Given the description of an element on the screen output the (x, y) to click on. 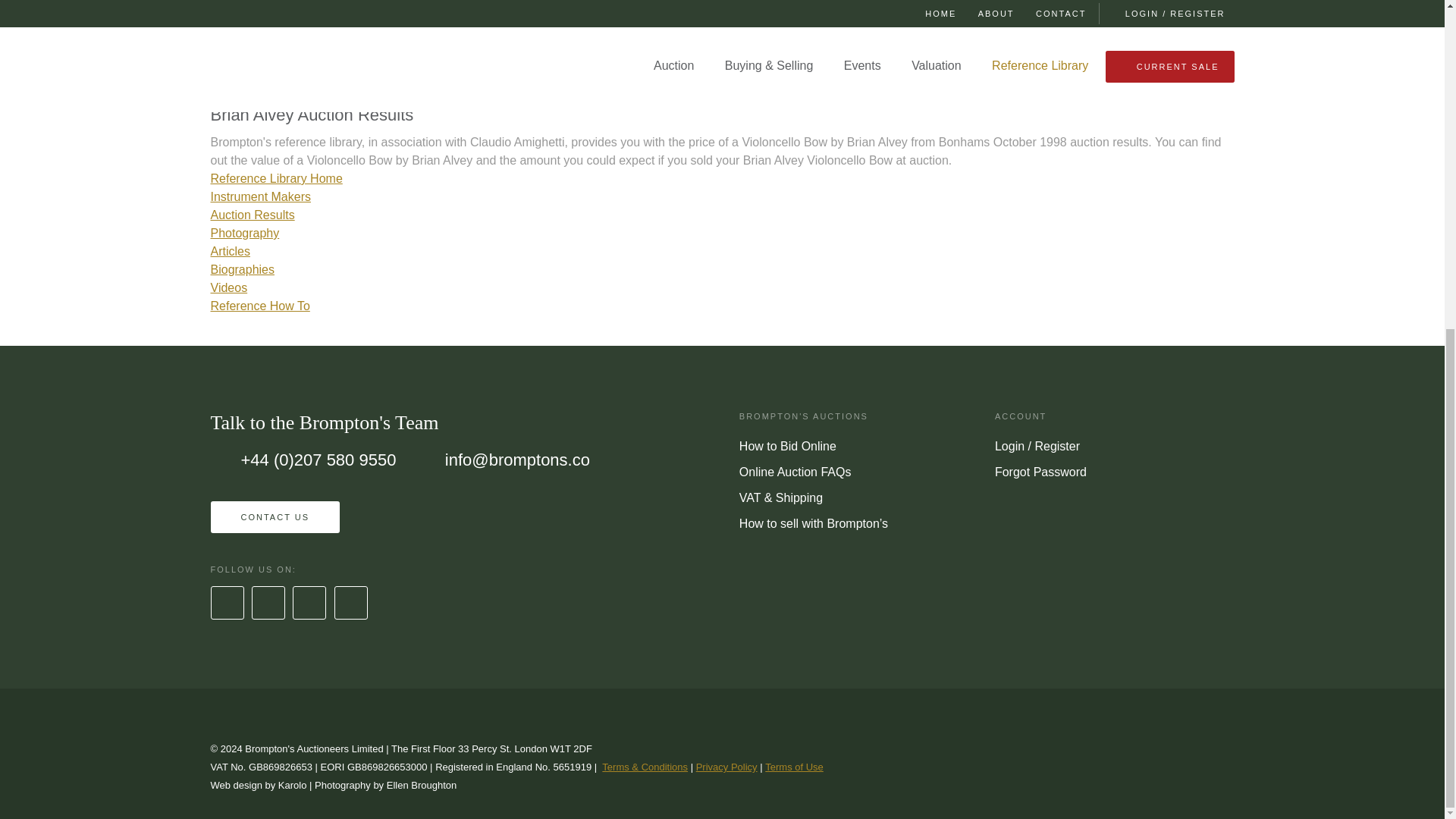
Follow us on Instagram (309, 603)
Follow us on Twitter (267, 603)
Follow us on Facebook (227, 603)
Follow us on YouTube (350, 603)
